Given the description of an element on the screen output the (x, y) to click on. 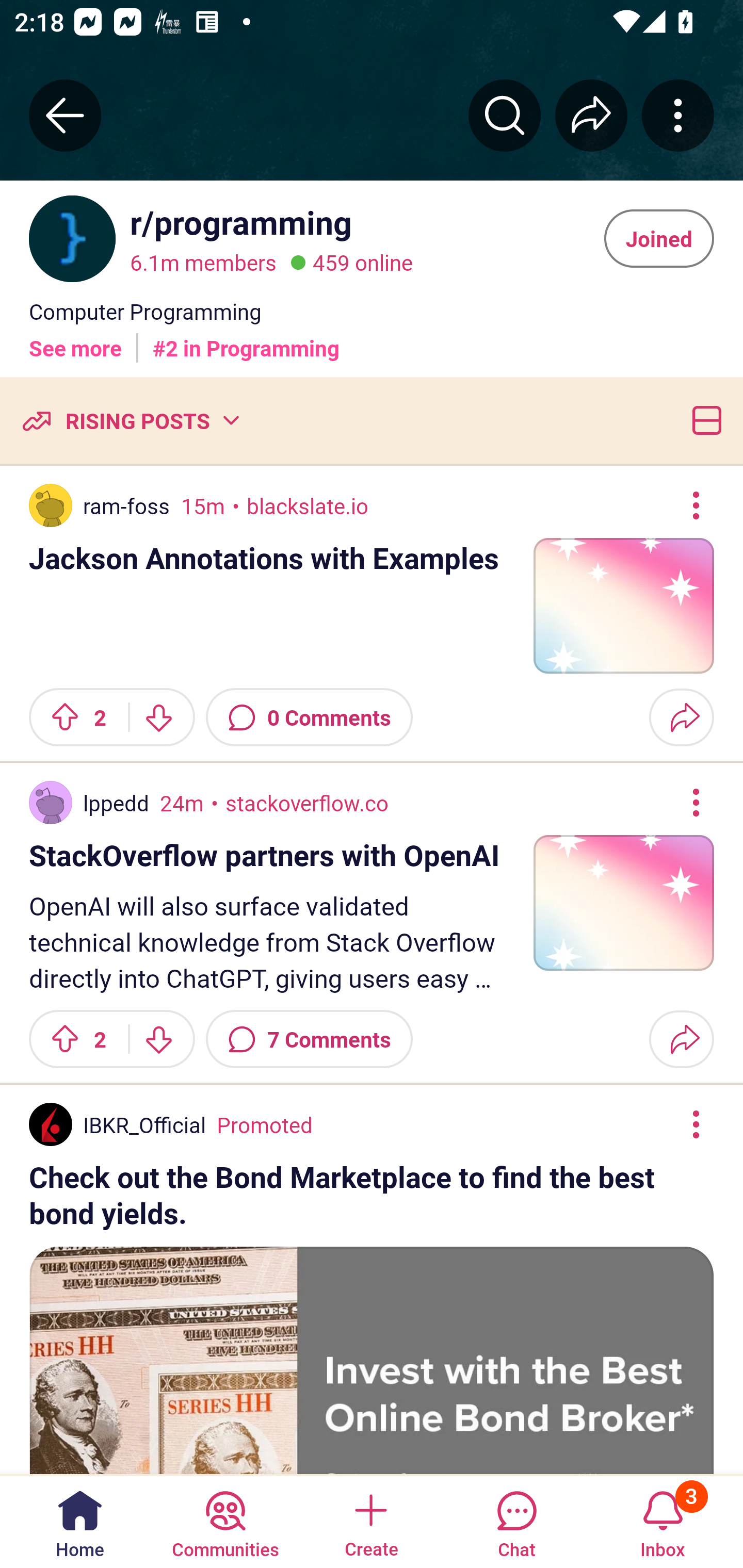
Back (64, 115)
Search r/﻿programming (504, 115)
Share r/﻿programming (591, 115)
More community actions (677, 115)
See more (74, 340)
#2 in Programming (246, 340)
Rising posts RISING POSTS (130, 420)
Card (703, 420)
Home (80, 1520)
Communities (225, 1520)
Create a post Create (370, 1520)
Chat (516, 1520)
Inbox, has 3 notifications 3 Inbox (662, 1520)
